Given the description of an element on the screen output the (x, y) to click on. 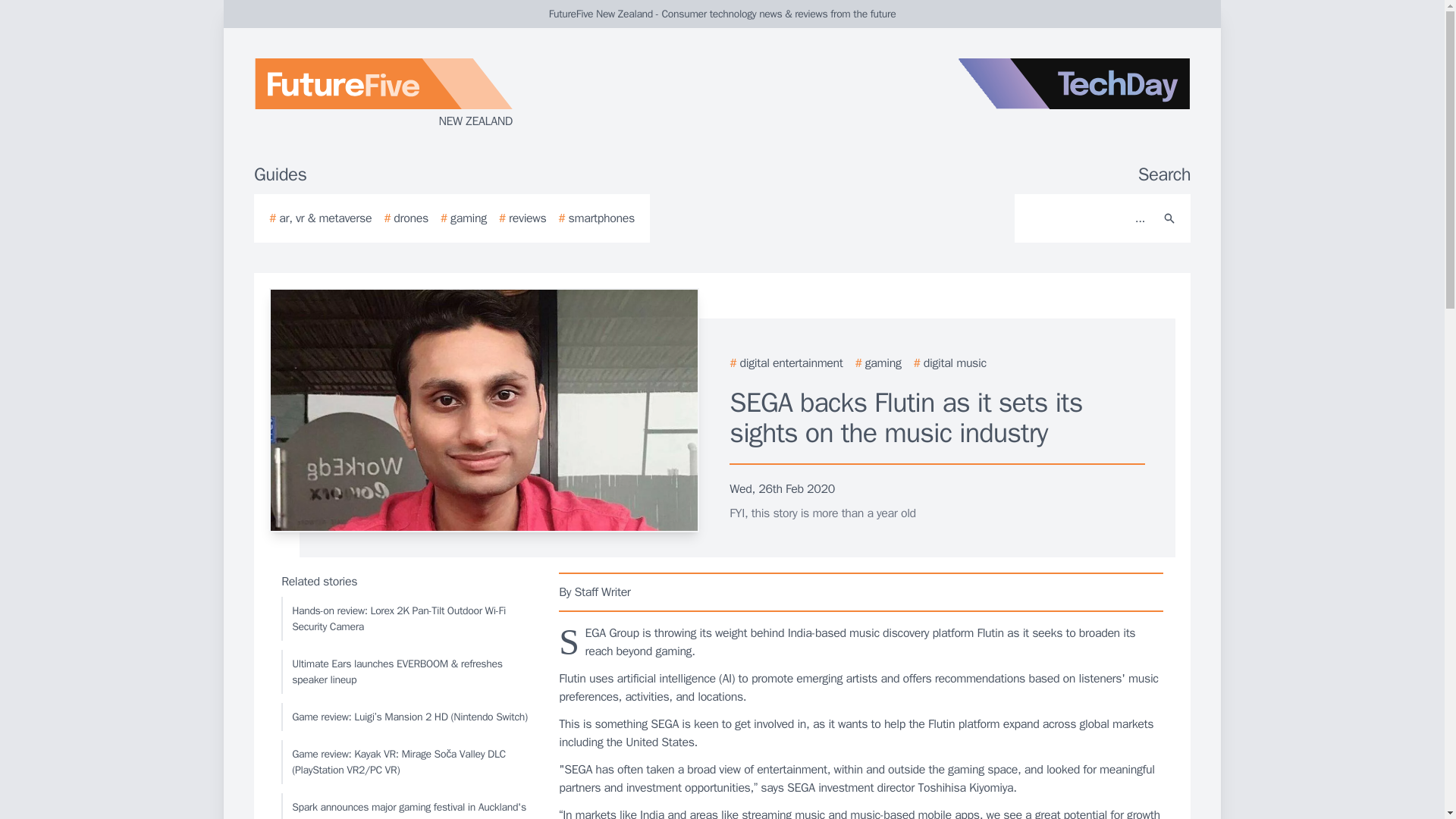
NEW ZEALAND (435, 94)
By Staff Writer (861, 592)
